Given the description of an element on the screen output the (x, y) to click on. 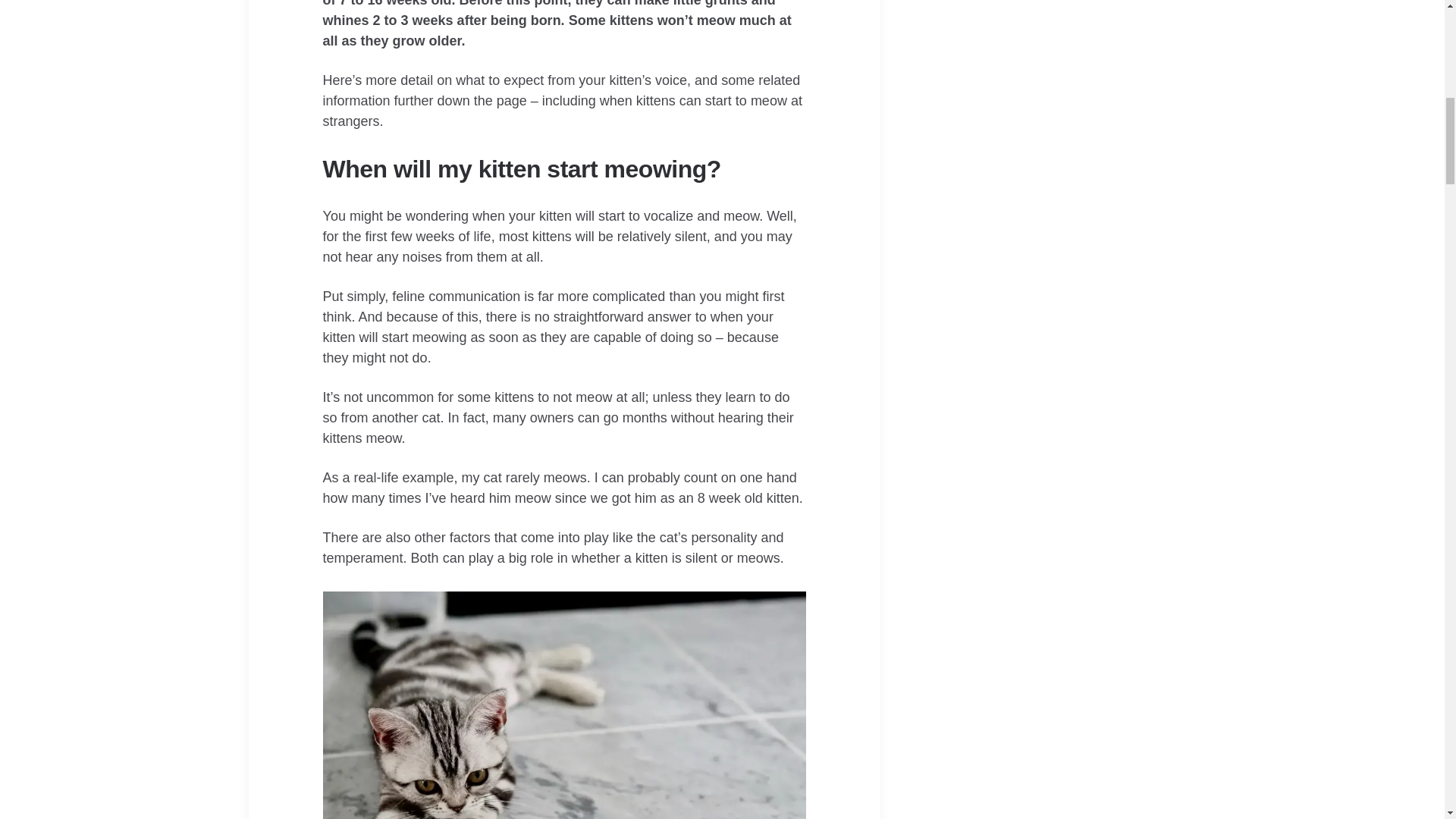
When Do Kittens Start Meowing? 31 (564, 705)
